Given the description of an element on the screen output the (x, y) to click on. 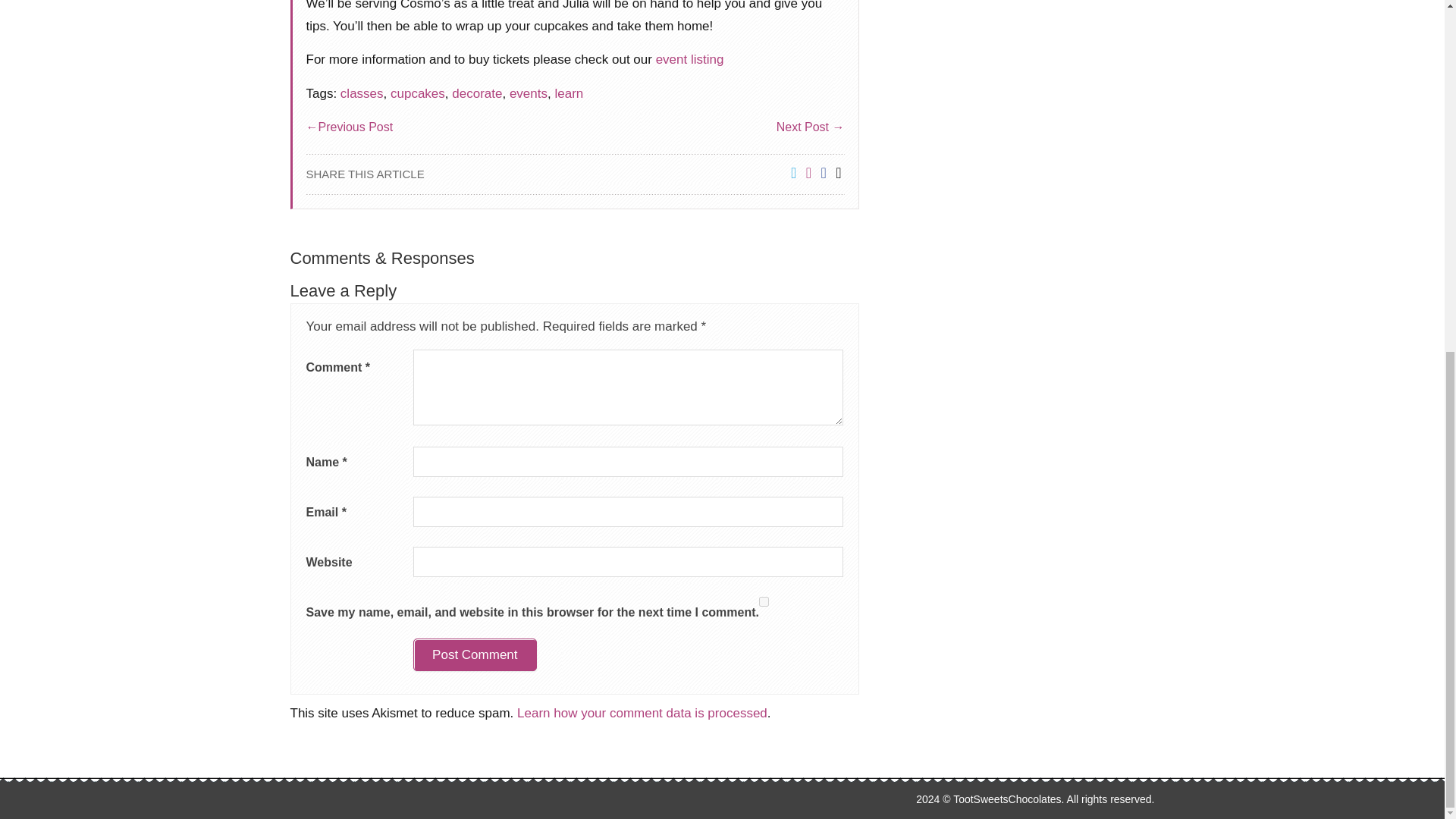
yes (763, 601)
classes (362, 93)
cupcakes (417, 93)
Post Comment (474, 654)
Learn how your comment data is processed (641, 712)
event listing (689, 59)
events (528, 93)
learn (568, 93)
Post Comment (474, 654)
decorate (476, 93)
